Given the description of an element on the screen output the (x, y) to click on. 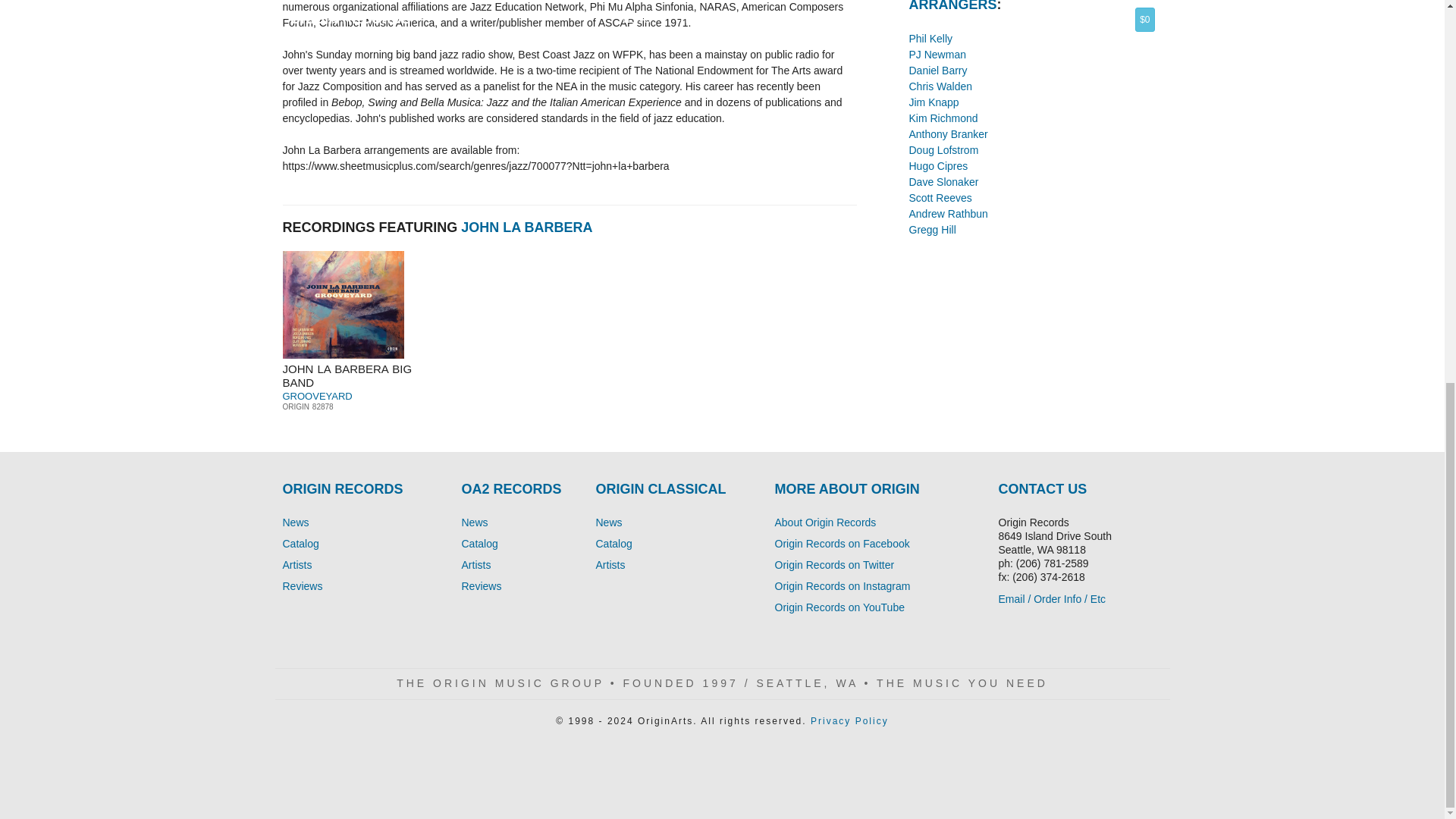
Gregg Hill (931, 229)
Origin Records on Twitter (834, 564)
Doug Lofstrom (943, 150)
Phil Kelly (930, 38)
OA2 Records Reviews (480, 585)
GROOVEYARD (317, 396)
OA2 Records (474, 522)
Dave Slonaker (943, 182)
Origin Records on Instagram (842, 585)
Scott Reeves (939, 197)
OA2 Records Artists (610, 564)
Origin Records (295, 522)
Chris Walden (940, 86)
OA2 Records Catalog (613, 543)
Contact Origin Records (1051, 598)
